Given the description of an element on the screen output the (x, y) to click on. 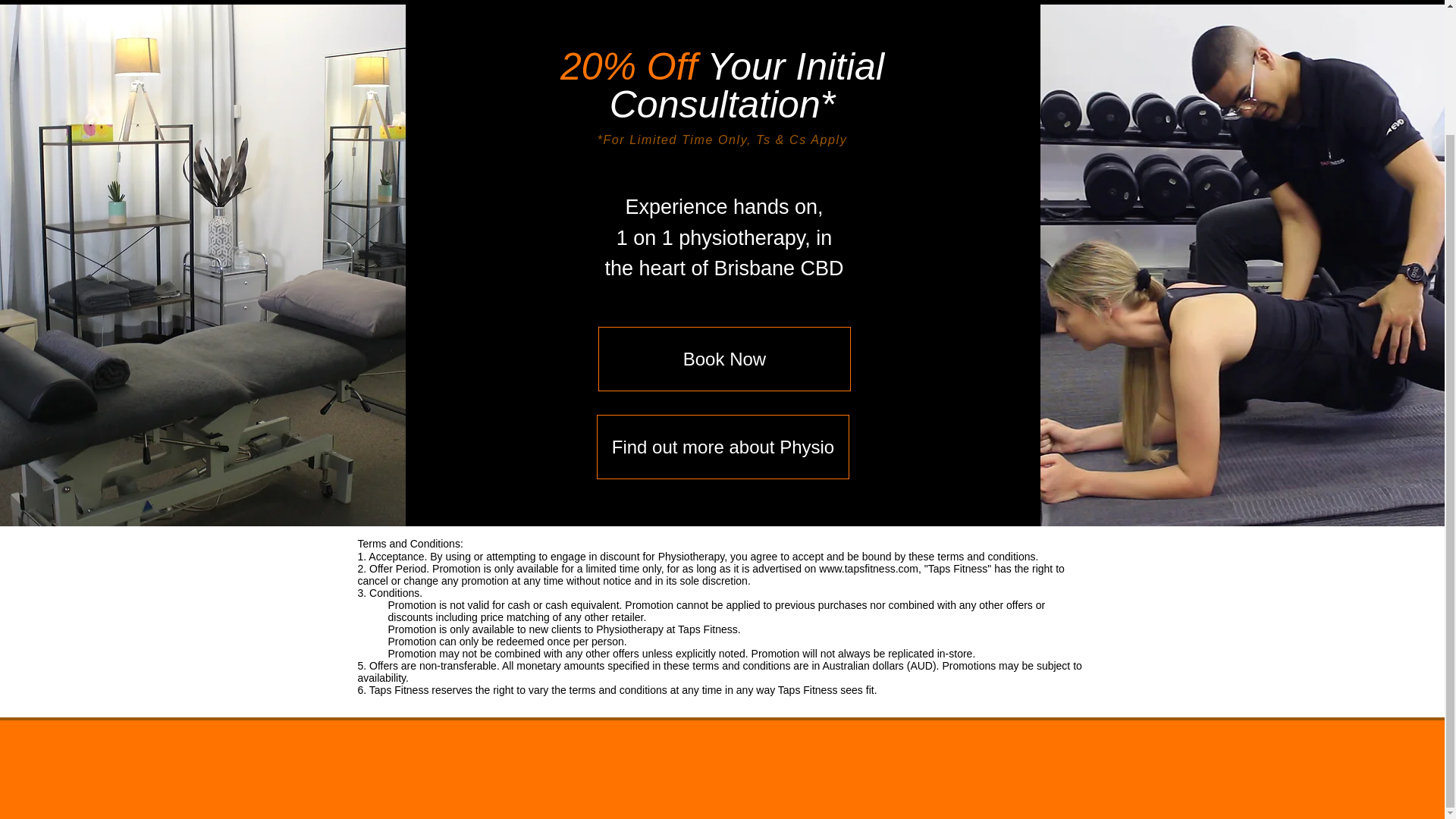
Find out more about Physio (722, 446)
www.tapsfitness.com (868, 568)
Book Now (724, 358)
